Given the description of an element on the screen output the (x, y) to click on. 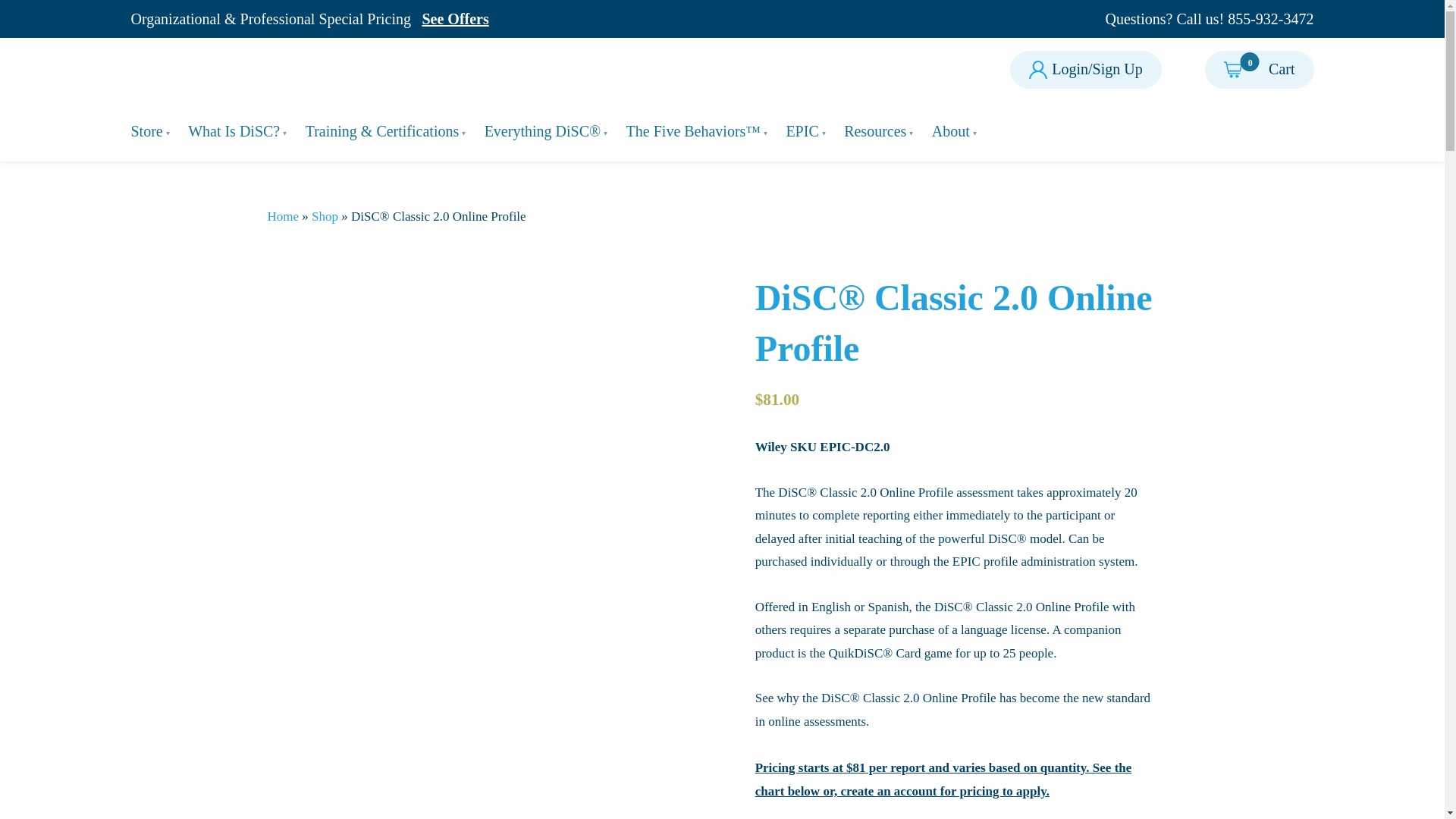
DiscProfiles4u (1259, 69)
Questions? Call us! 855-932-3472 (254, 69)
What Is DiSC? (1203, 18)
See Offers (237, 130)
